Given the description of an element on the screen output the (x, y) to click on. 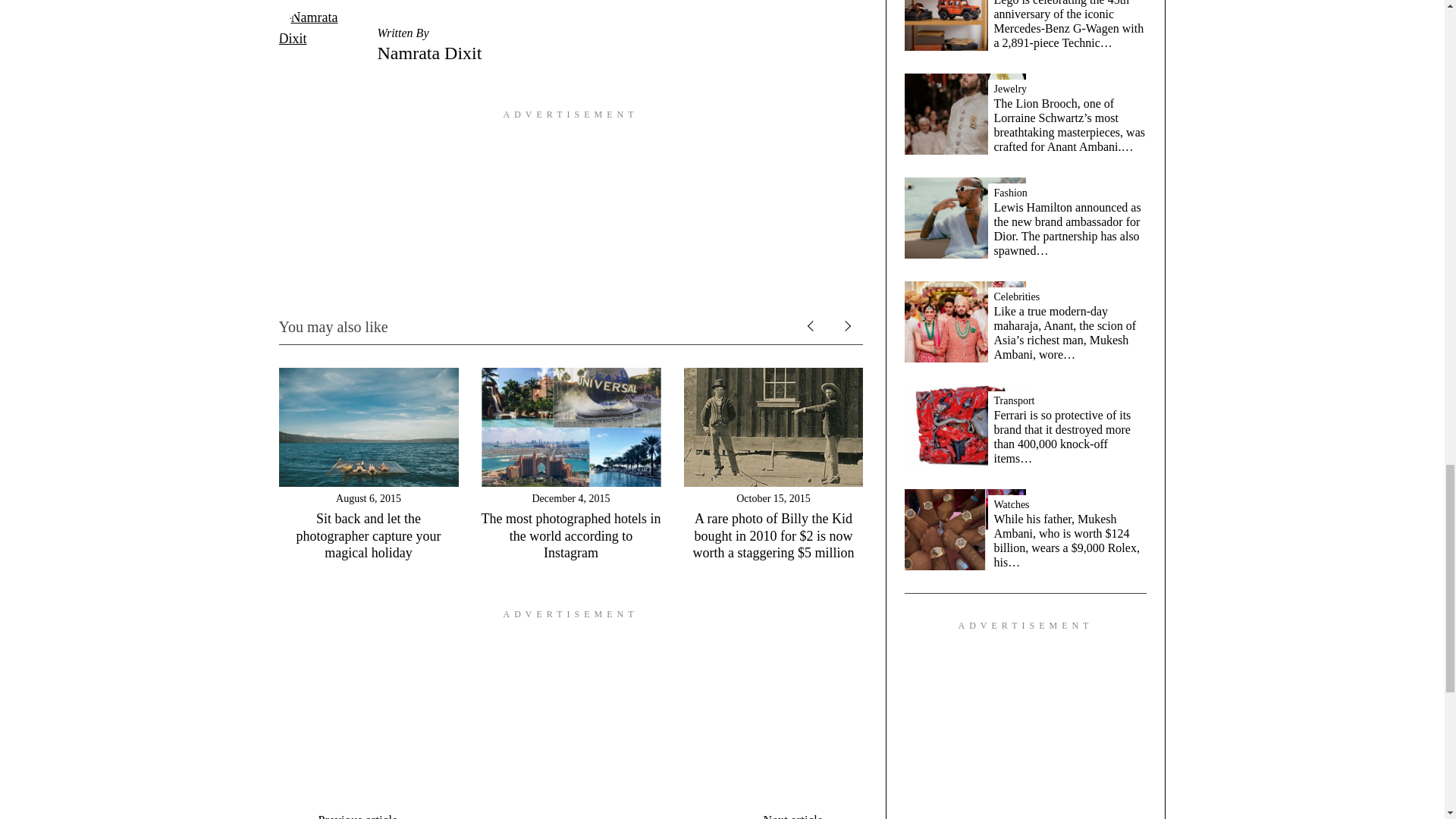
Namrata Dixit (429, 52)
